Given the description of an element on the screen output the (x, y) to click on. 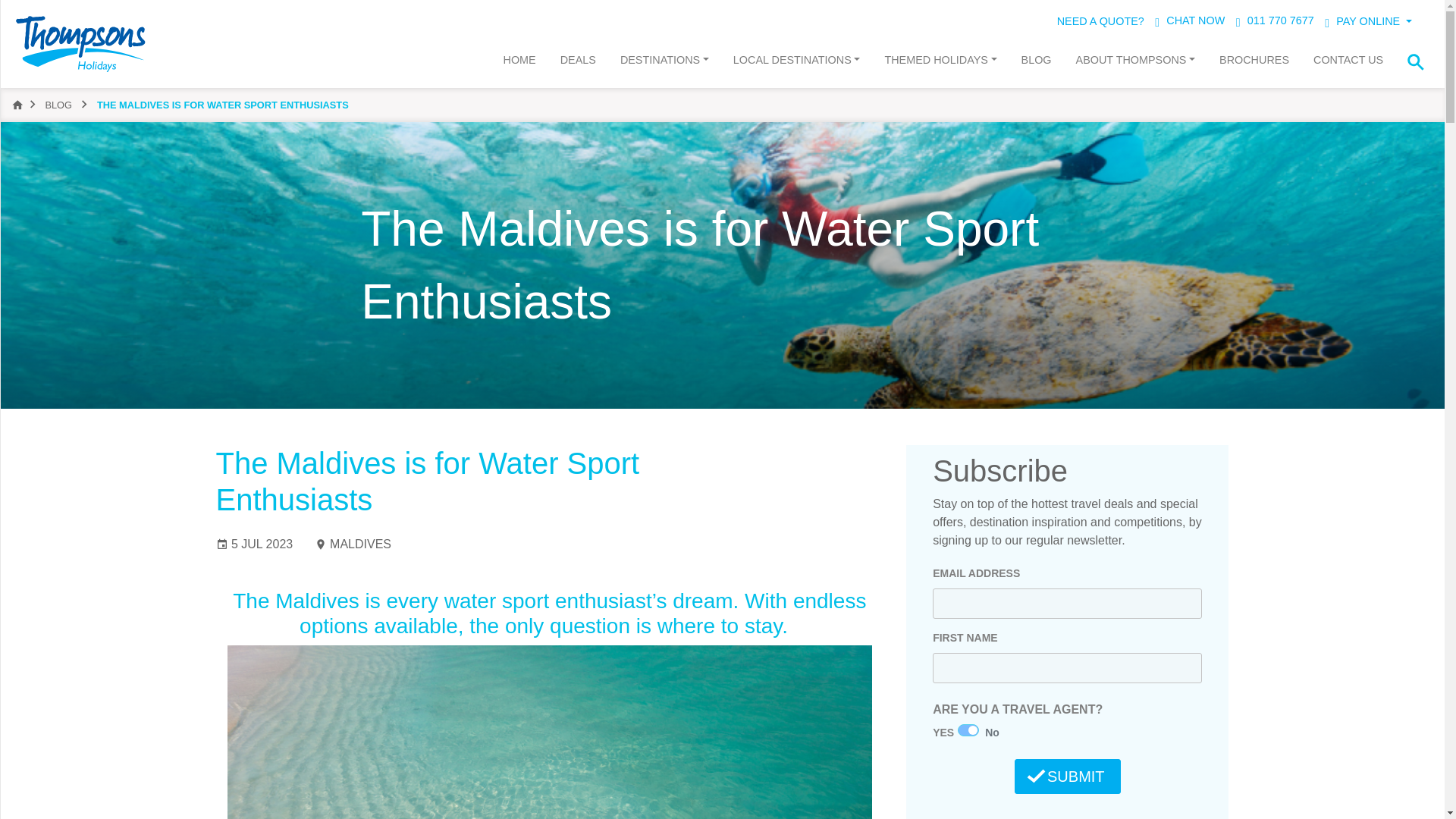
LOCAL DESTINATIONS (796, 63)
HOME (518, 63)
Maldives (549, 732)
DEALS (578, 63)
CHAT NOW (1189, 22)
011 770 7677 (1275, 22)
DESTINATIONS (664, 63)
SUBMIT (1067, 776)
PAY ONLINE (1368, 24)
